Given the description of an element on the screen output the (x, y) to click on. 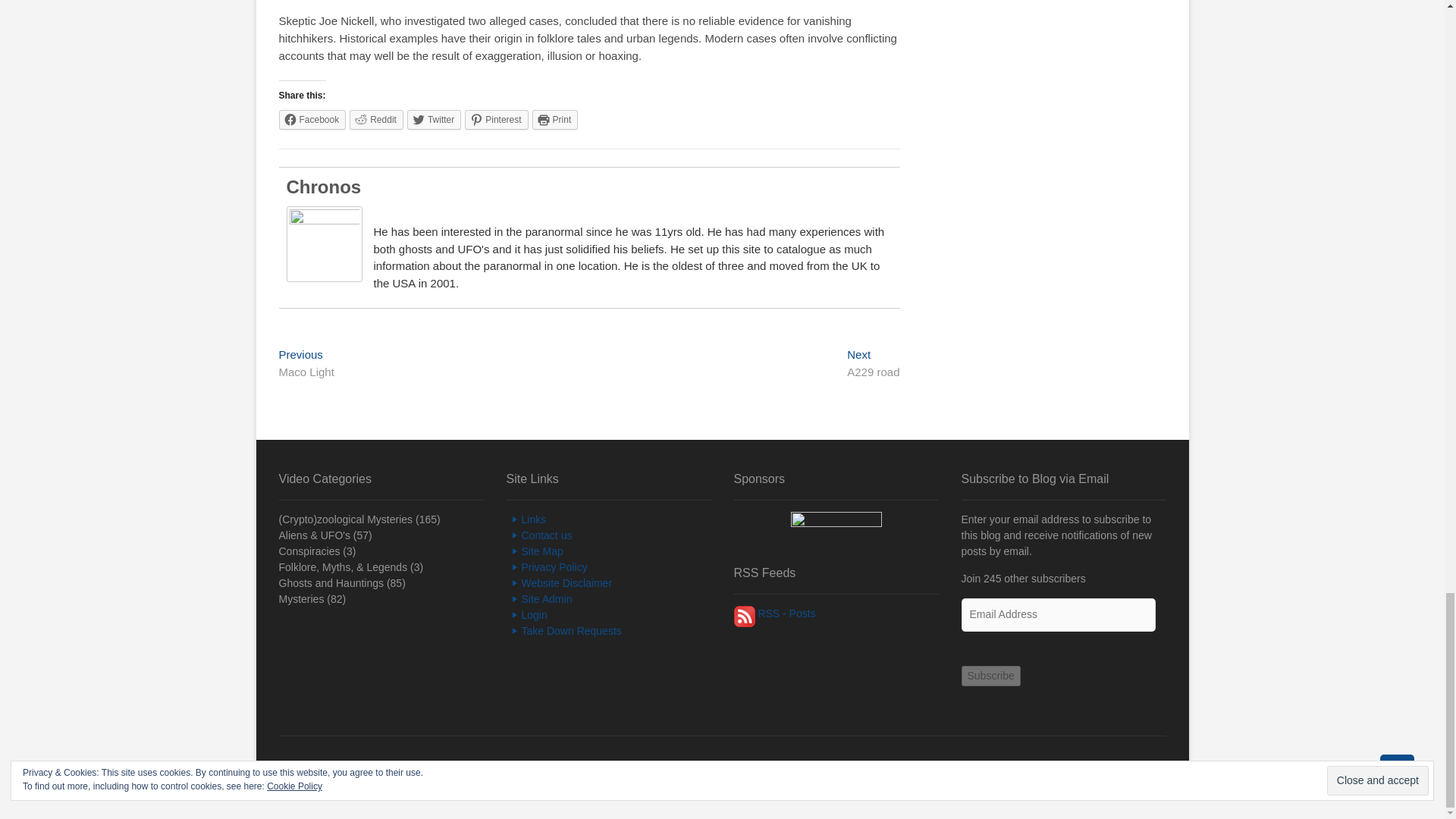
Subscribe to Posts (744, 613)
Various conspiracies videos. (309, 551)
Click to share on Twitter (434, 119)
Click to share on Facebook (312, 119)
Click to print (555, 119)
Various Myths, Legends, and Folklore. (343, 567)
Click to share on Reddit (376, 119)
Click to share on Pinterest (495, 119)
Ghosts, haunted places and paranormal anomalies. (331, 582)
All posts by Chronos (323, 186)
